Given the description of an element on the screen output the (x, y) to click on. 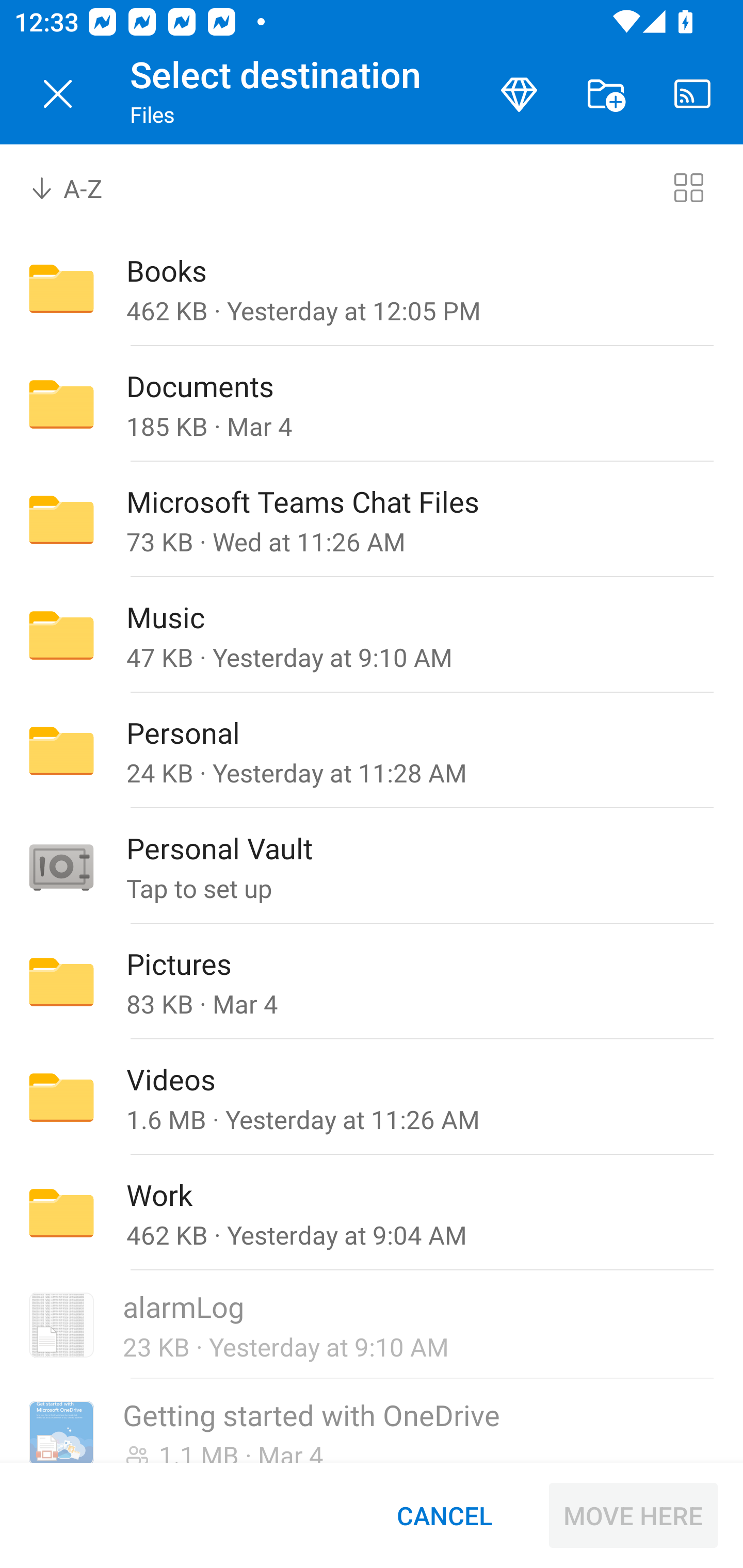
Close (57, 93)
Cast. Disconnected (692, 93)
Premium button (518, 93)
More actions button (605, 93)
A-Z Sort by combo box, sort by name, A to Z (80, 187)
Switch to tiles view (688, 187)
Folder Books 462 KB · Yesterday at 12:05 PM (371, 288)
Folder Documents 185 KB · Mar 4 (371, 404)
Folder Music 47 KB · Yesterday at 9:10 AM (371, 635)
Folder Personal 24 KB · Yesterday at 11:28 AM (371, 751)
Folder Personal Vault Tap to set up (371, 866)
Folder Pictures 83 KB · Mar 4 (371, 981)
Folder Videos 1.6 MB · Yesterday at 11:26 AM (371, 1097)
Folder Work 462 KB · Yesterday at 9:04 AM (371, 1213)
Document alarmLog 23 KB · Yesterday at 9:10 AM (371, 1325)
CANCEL (443, 1515)
MOVE HERE (633, 1515)
